Given the description of an element on the screen output the (x, y) to click on. 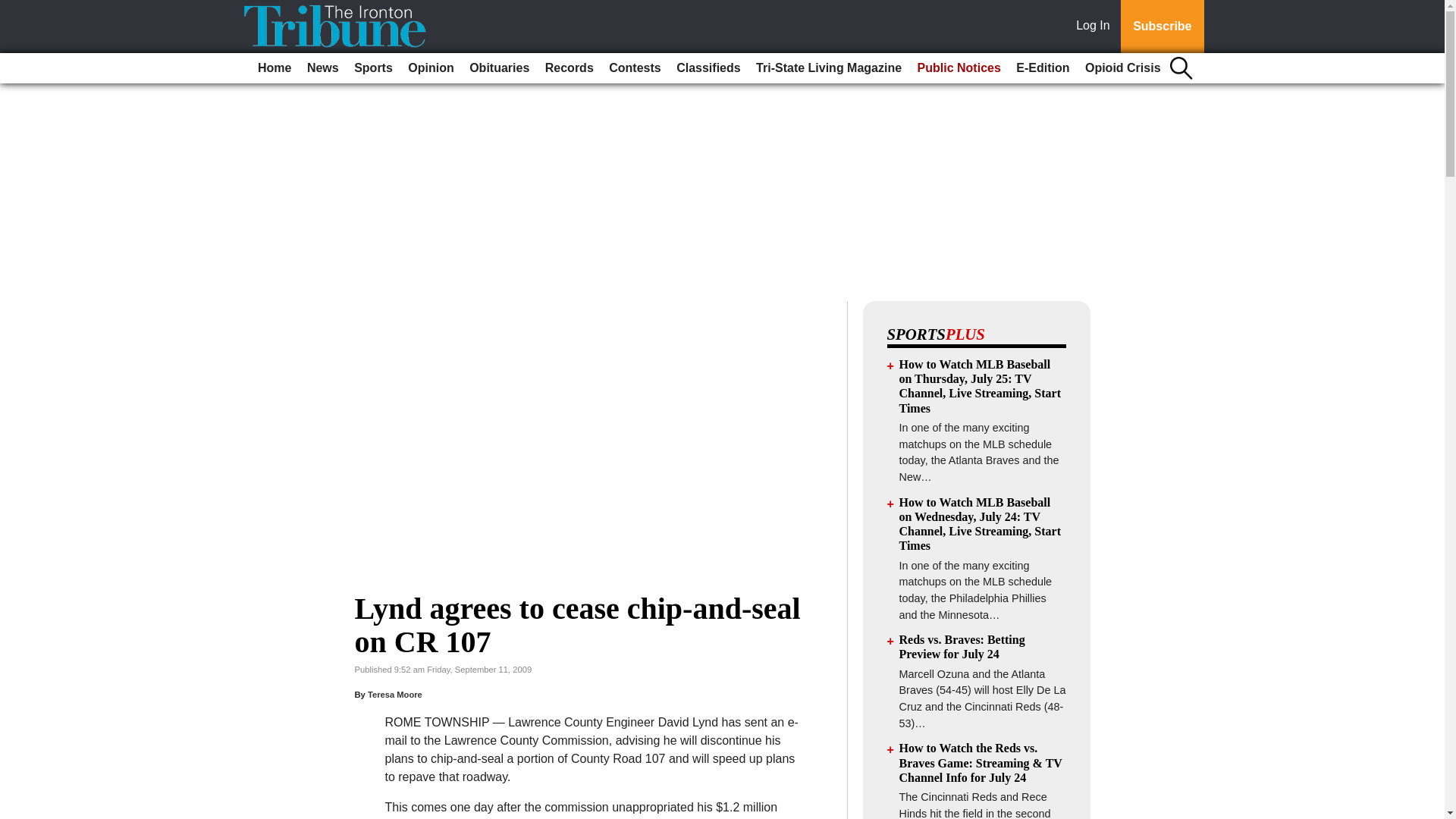
Classifieds (707, 68)
Teresa Moore (395, 694)
Tri-State Living Magazine (828, 68)
Log In (1095, 26)
E-Edition (1042, 68)
Subscribe (1162, 26)
Opioid Crisis (1122, 68)
Obituaries (499, 68)
Sports (372, 68)
Opinion (430, 68)
Records (568, 68)
Reds vs. Braves: Betting Preview for July 24 (962, 646)
Contests (634, 68)
